Given the description of an element on the screen output the (x, y) to click on. 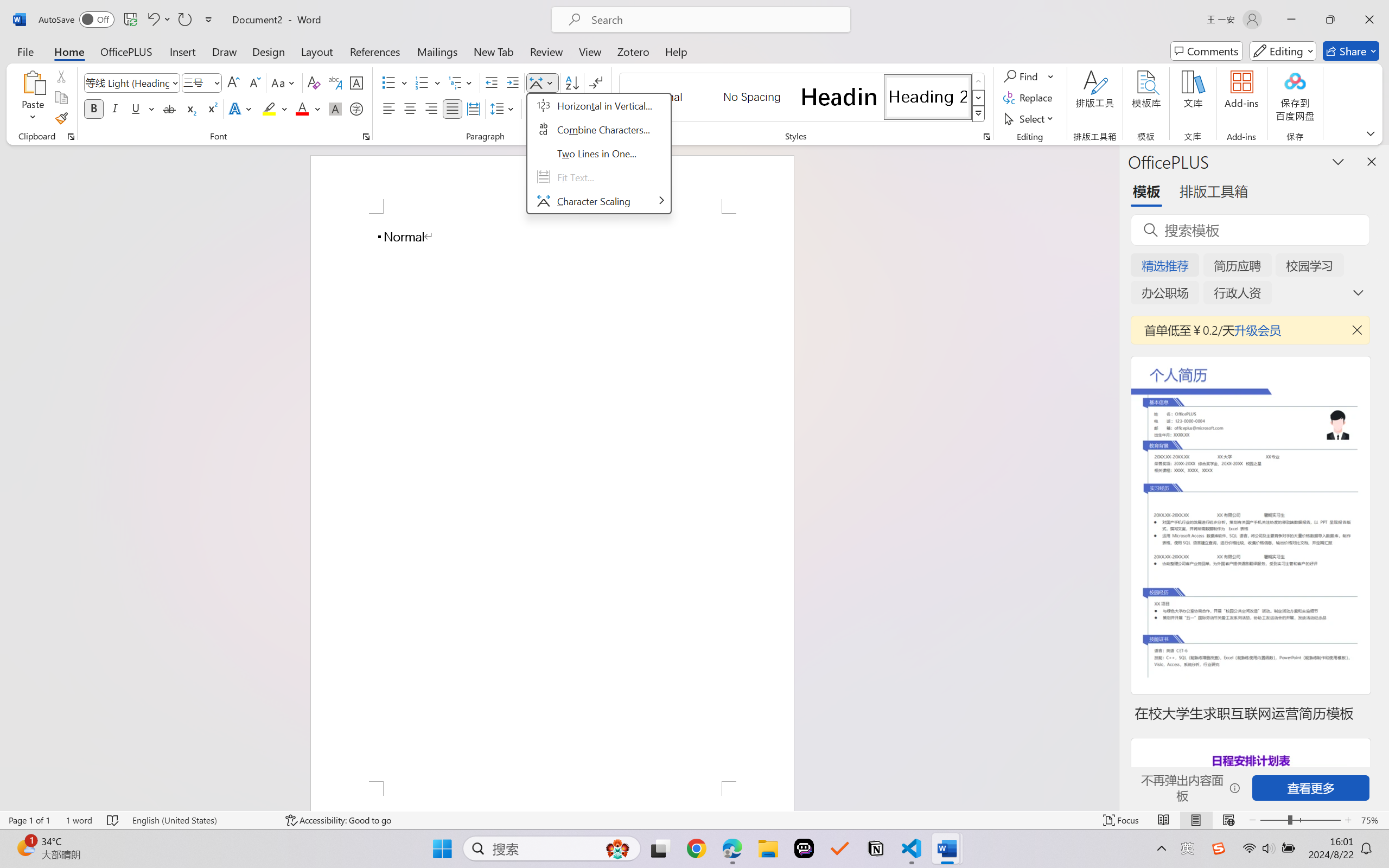
Help (675, 51)
Comments (1206, 50)
Decrease Indent (491, 82)
Zoom In (1348, 819)
Read Mode (1163, 819)
Font Color Red (302, 108)
Text Highlight Color Yellow (269, 108)
AutomationID: BadgeAnchorLargeTicker (24, 847)
Ribbon Display Options (1370, 132)
Zotero (632, 51)
Underline (142, 108)
Task Pane Options (1338, 161)
Numbering (428, 82)
